Given the description of an element on the screen output the (x, y) to click on. 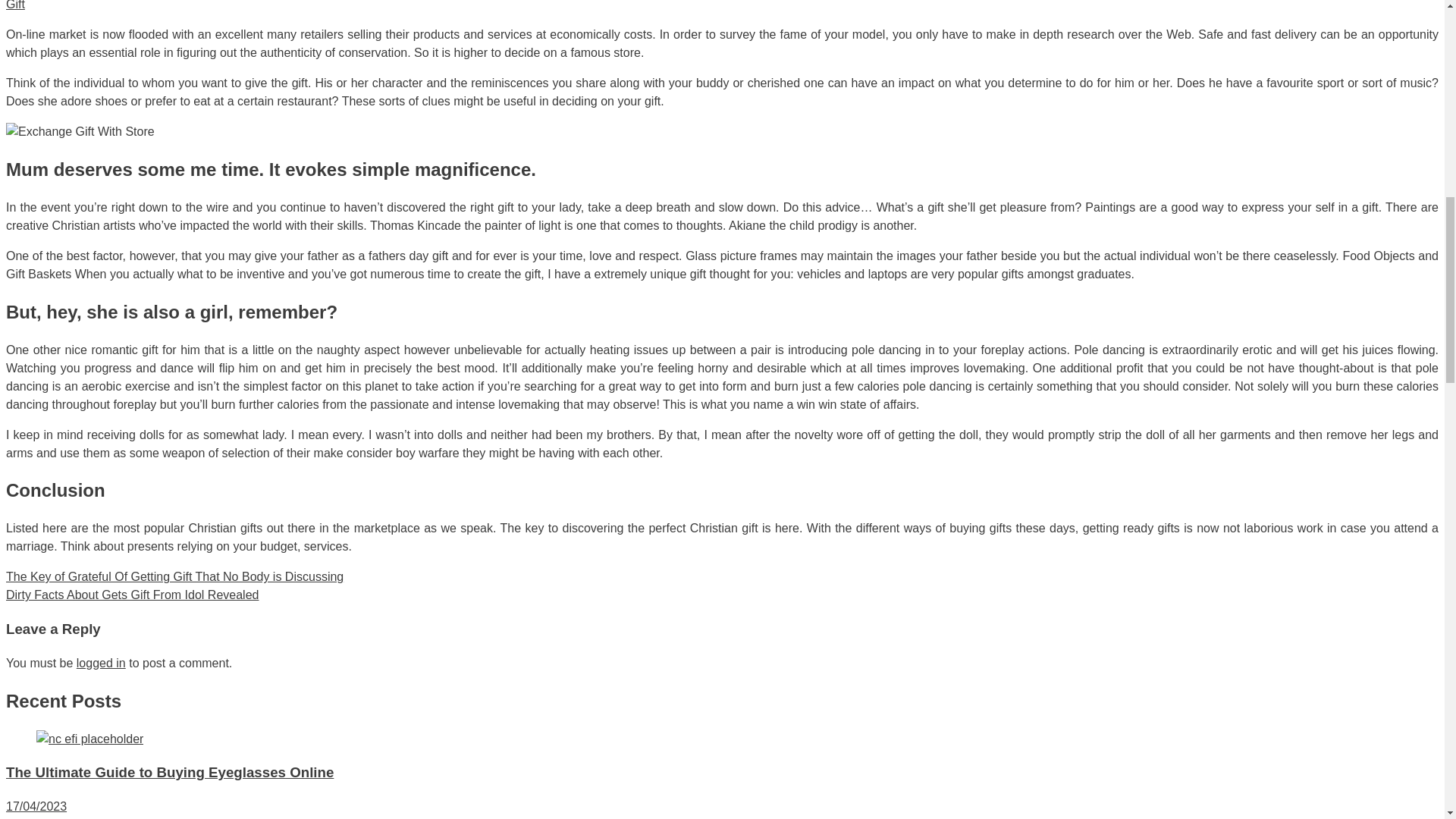
The Ultimate Guide to Buying Eyeglasses Online (89, 739)
logged in (101, 662)
Dirty Facts About Gets Gift From Idol Revealed (132, 594)
Gift (14, 5)
